Given the description of an element on the screen output the (x, y) to click on. 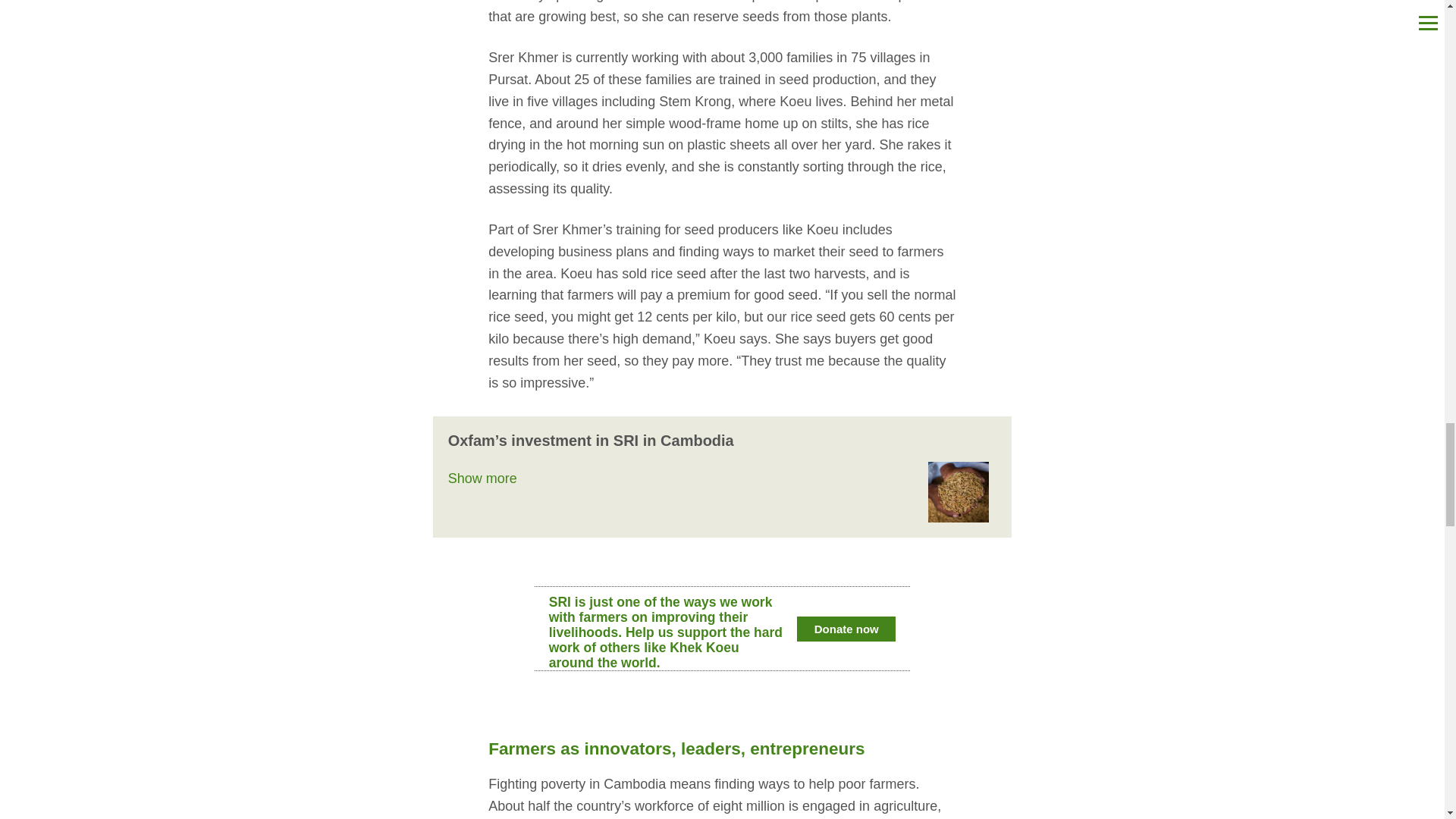
Donate now (845, 629)
Show more (482, 478)
